Given the description of an element on the screen output the (x, y) to click on. 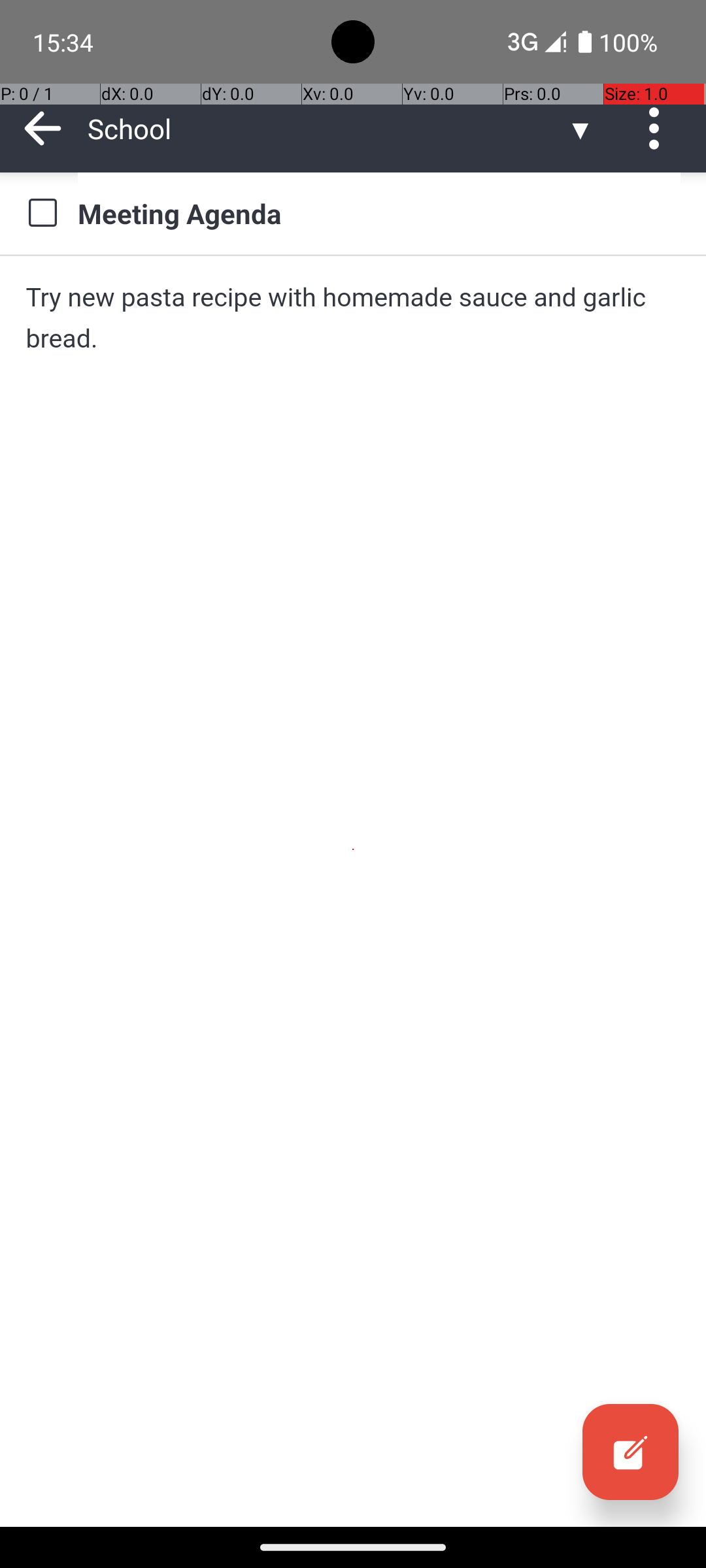
Meeting Agenda Element type: android.widget.EditText (378, 213)
School Element type: android.widget.TextView (326, 128)
Try new pasta recipe with homemade sauce and garlic bread. Element type: android.widget.TextView (352, 317)
